Given the description of an element on the screen output the (x, y) to click on. 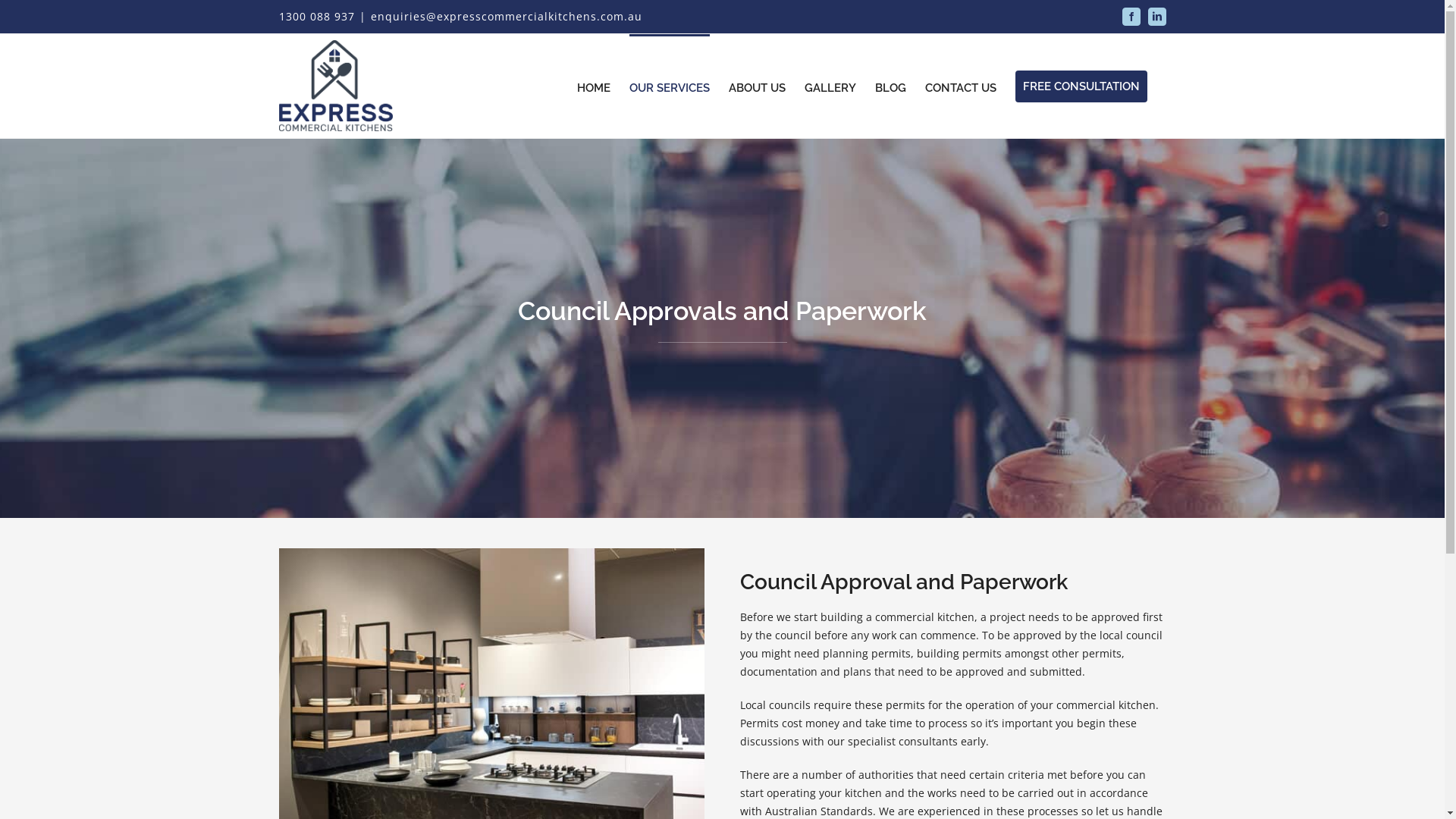
CONTACT US Element type: text (960, 86)
FREE CONSULTATION Element type: text (1080, 86)
enquiries@expresscommercialkitchens.com.au Element type: text (505, 16)
BLOG Element type: text (890, 86)
LinkedIn Element type: text (1157, 16)
Facebook Element type: text (1131, 16)
HOME Element type: text (592, 86)
OUR SERVICES Element type: text (669, 86)
GALLERY Element type: text (829, 86)
ABOUT US Element type: text (756, 86)
1300 088 937 Element type: text (316, 16)
